Given the description of an element on the screen output the (x, y) to click on. 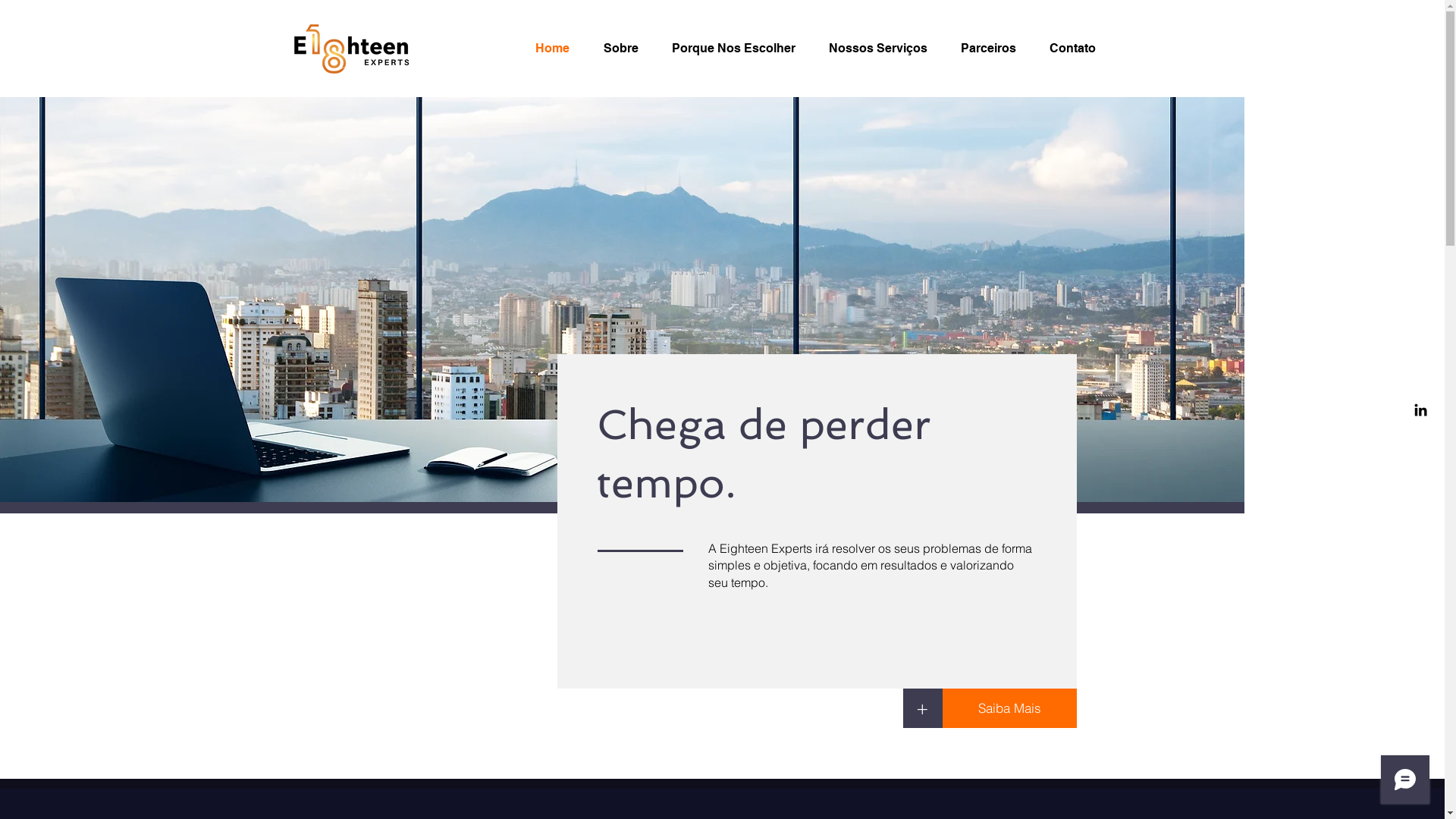
Porque Nos Escolher Element type: text (737, 48)
Contato Element type: text (1077, 48)
Home Element type: text (557, 48)
Parceiros Element type: text (993, 48)
1.png Element type: hover (350, 48)
Saiba Mais Element type: text (1008, 708)
Sobre Element type: text (625, 48)
+ Element type: text (921, 708)
